Given the description of an element on the screen output the (x, y) to click on. 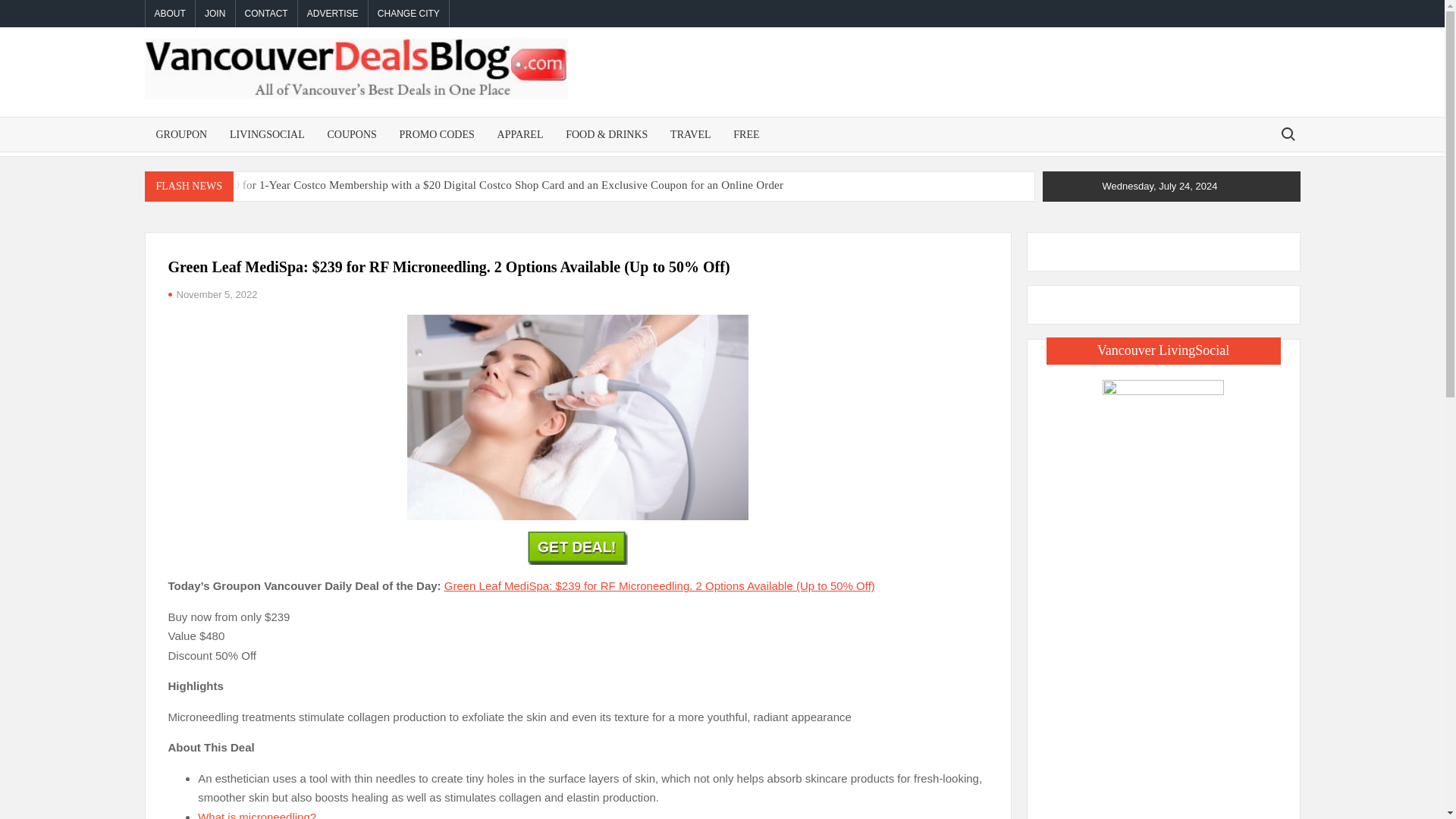
LIVINGSOCIAL (266, 133)
JOIN (214, 13)
CHANGE CITY (408, 13)
ADVERTISE (333, 13)
VANCOUVER DEALS BLOG (675, 125)
Search for: (1287, 134)
TRAVEL (690, 133)
FREE (746, 133)
ABOUT (170, 13)
COUPONS (351, 133)
